Given the description of an element on the screen output the (x, y) to click on. 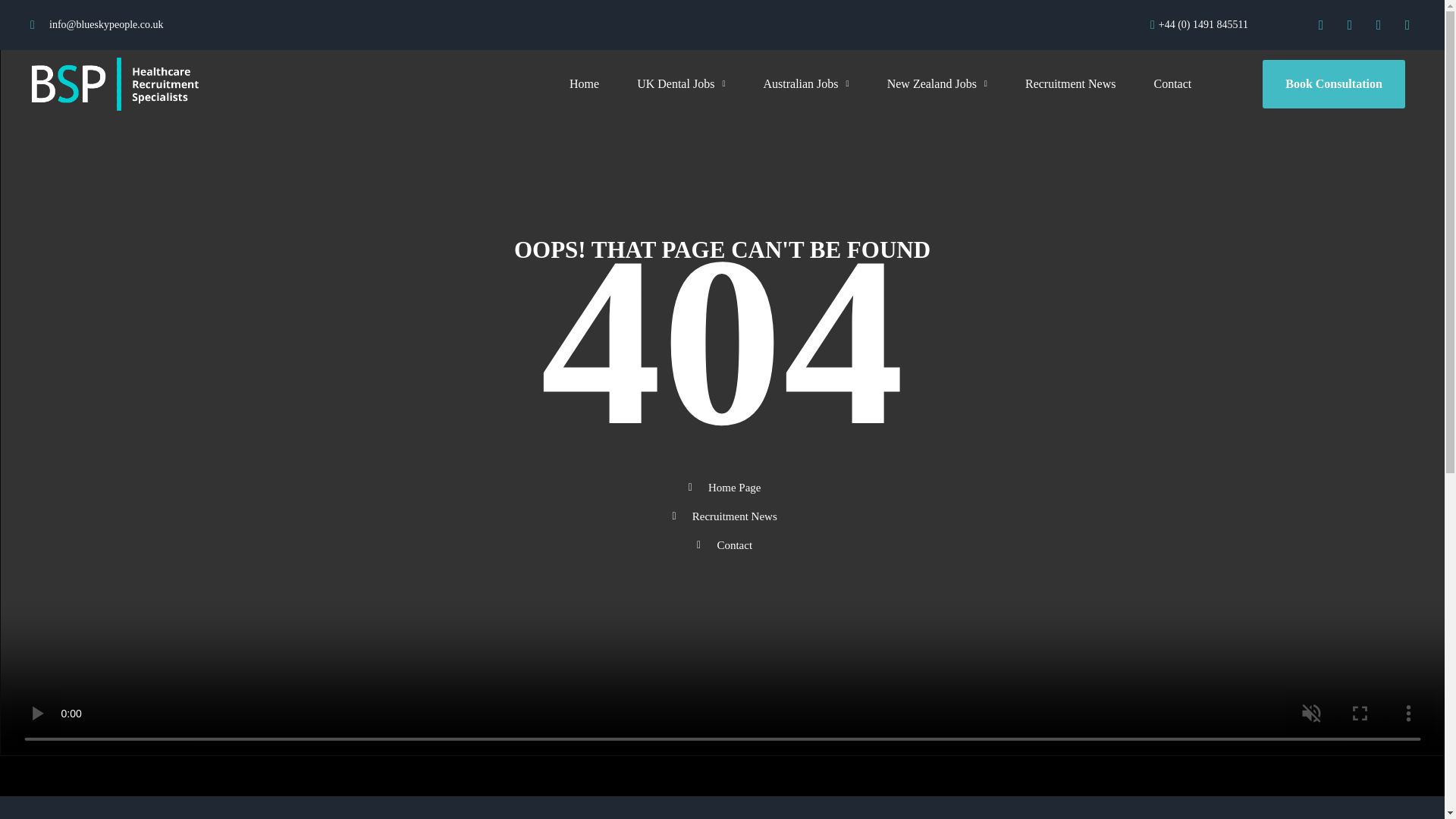
UK Dental Jobs (680, 83)
Home (584, 83)
Australian Jobs (805, 83)
Contact (1172, 83)
Recruitment News (1070, 83)
New Zealand Jobs (937, 83)
